Given the description of an element on the screen output the (x, y) to click on. 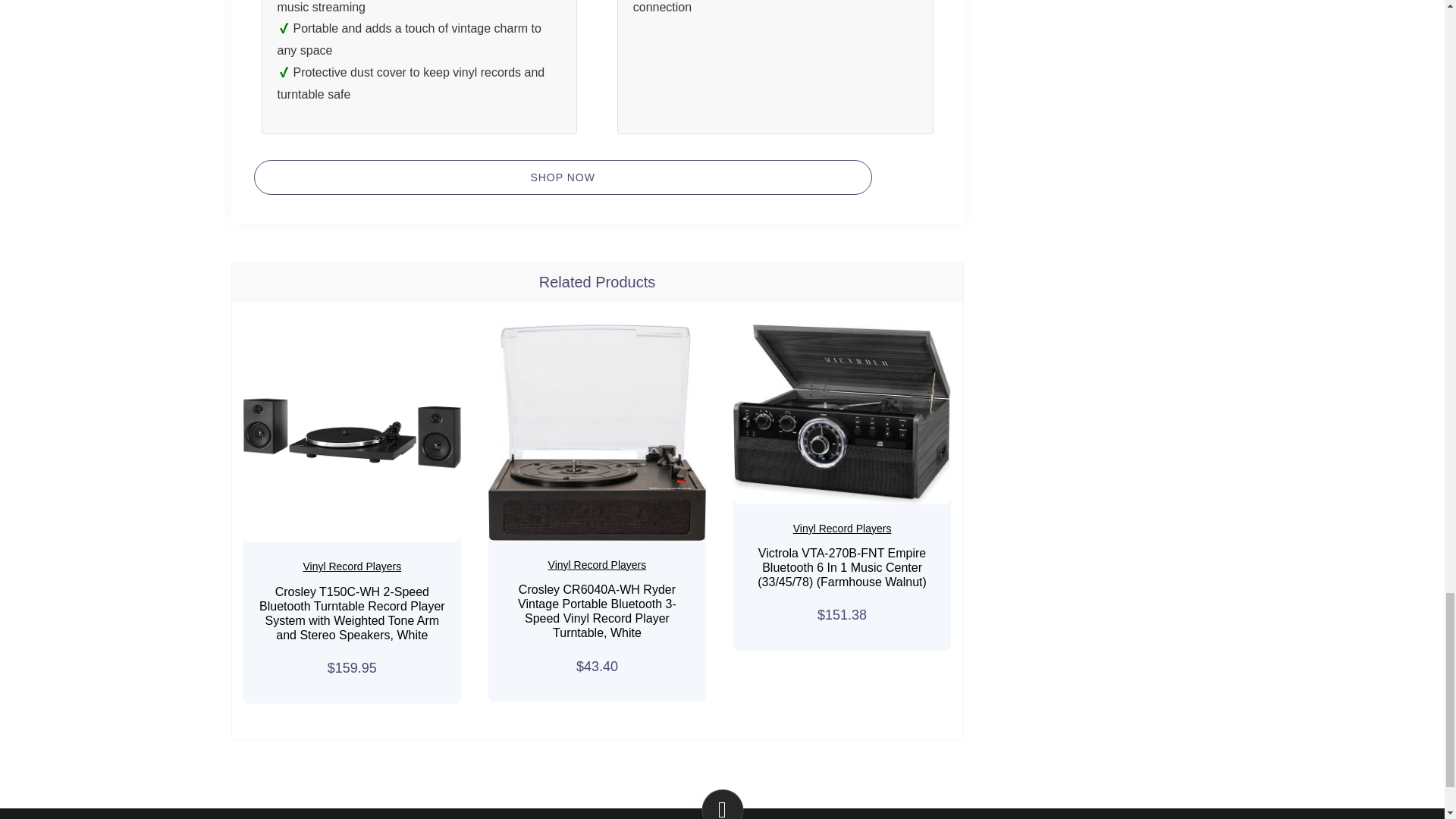
Vinyl Record Players (351, 566)
Vinyl Record Players (597, 564)
SHOP NOW (561, 176)
